Given the description of an element on the screen output the (x, y) to click on. 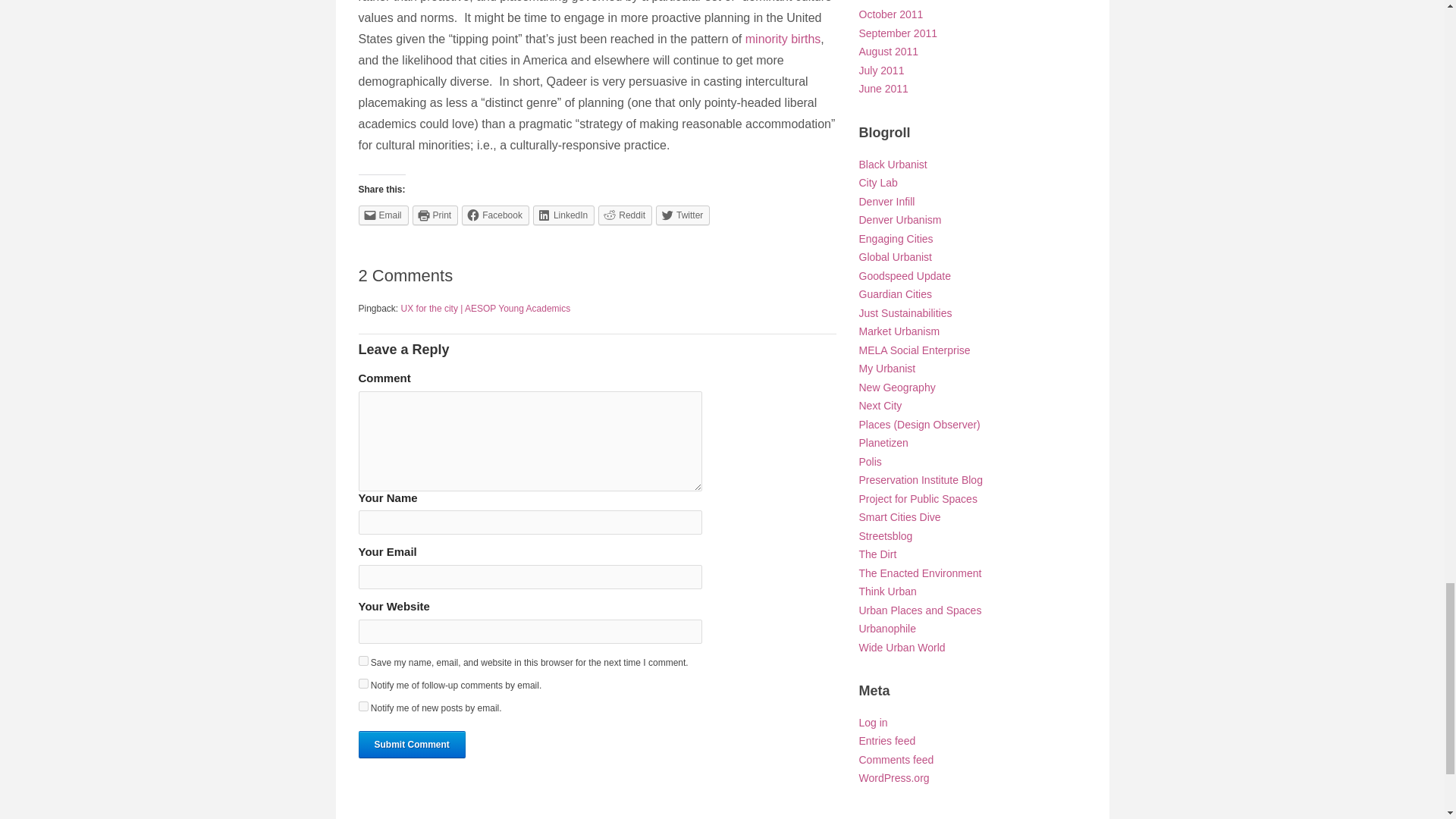
Reddit (625, 215)
Facebook (495, 215)
Email (382, 215)
Twitter (683, 215)
yes (363, 660)
subscribe (363, 683)
Click to share on Facebook (495, 215)
minority births (783, 38)
Click to email this to a friend (382, 215)
Click to share on LinkedIn (563, 215)
LinkedIn (563, 215)
Click to print (435, 215)
Submit Comment (411, 744)
Click to share on Reddit (625, 215)
Click to share on Twitter (683, 215)
